Given the description of an element on the screen output the (x, y) to click on. 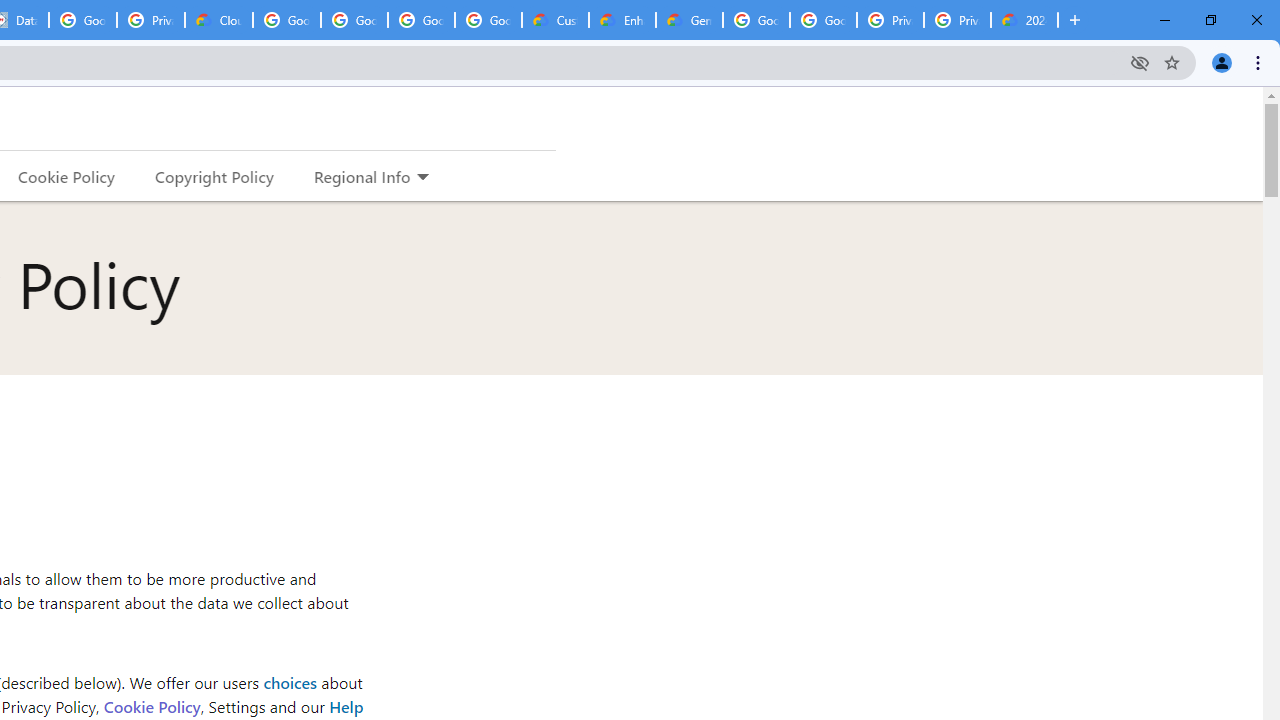
choices (289, 681)
Third-party cookies blocked (1139, 62)
Customer Care | Google Cloud (555, 20)
Cookie Policy (151, 706)
Cloud Data Processing Addendum | Google Cloud (219, 20)
Enhanced Support | Google Cloud (622, 20)
Expand to show more links for Regional Info (422, 178)
Google Cloud Platform (756, 20)
Gemini for Business and Developers | Google Cloud (689, 20)
